Given the description of an element on the screen output the (x, y) to click on. 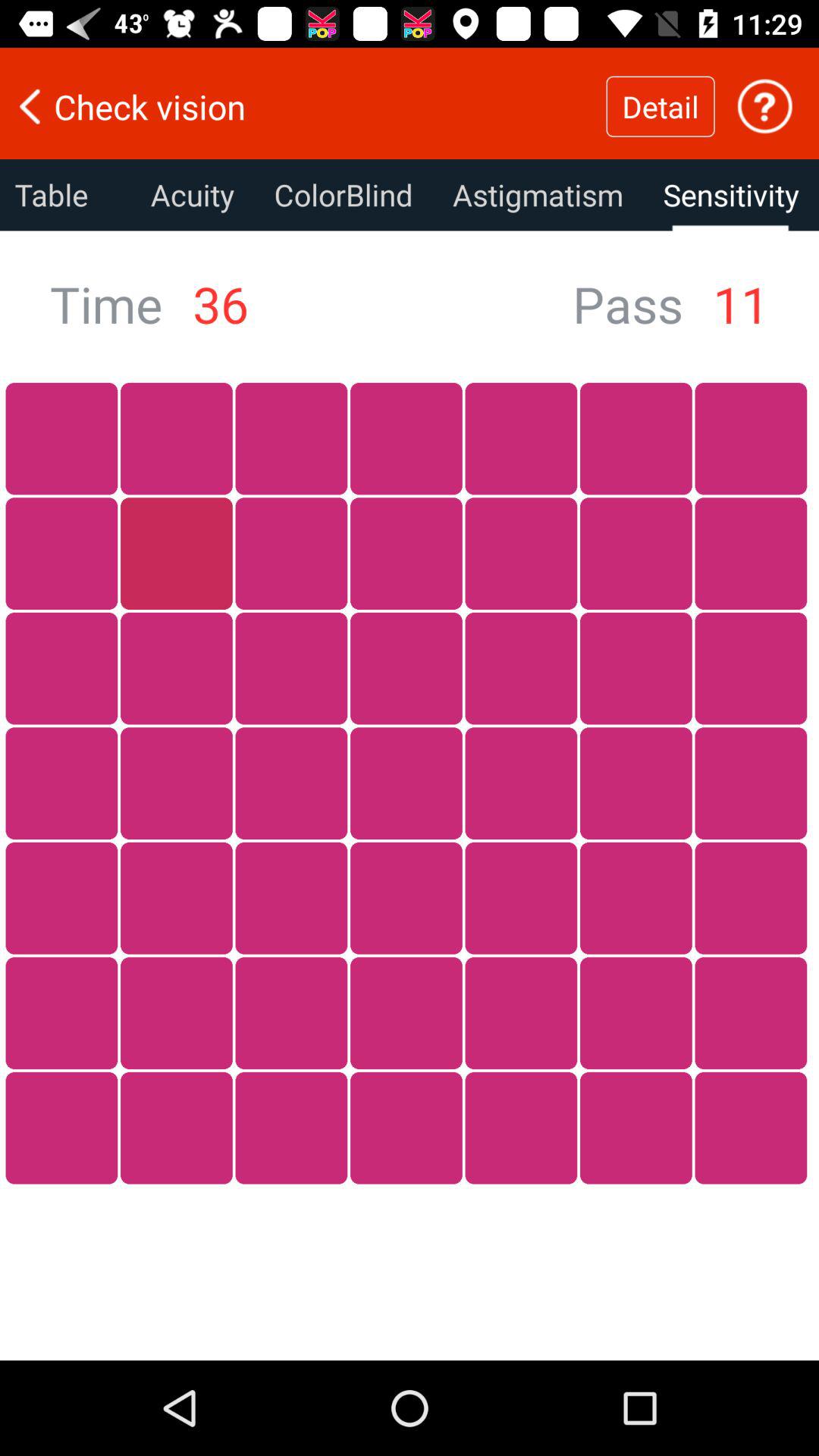
launch item below the detail (731, 194)
